Given the description of an element on the screen output the (x, y) to click on. 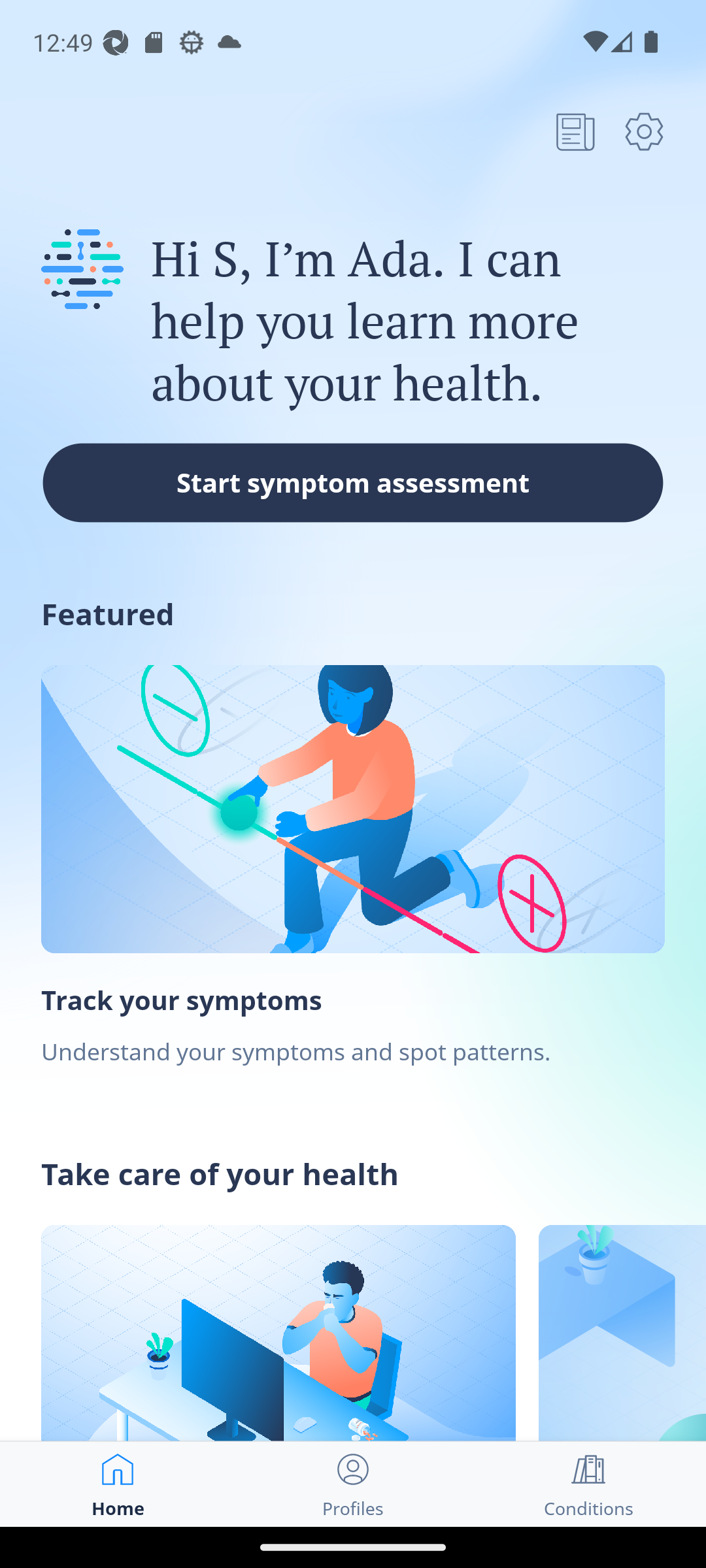
article icon , open articles (574, 131)
settings icon, open settings (644, 131)
Start symptom assessment (352, 482)
Home (117, 1484)
Profiles (352, 1484)
Conditions (588, 1484)
